Given the description of an element on the screen output the (x, y) to click on. 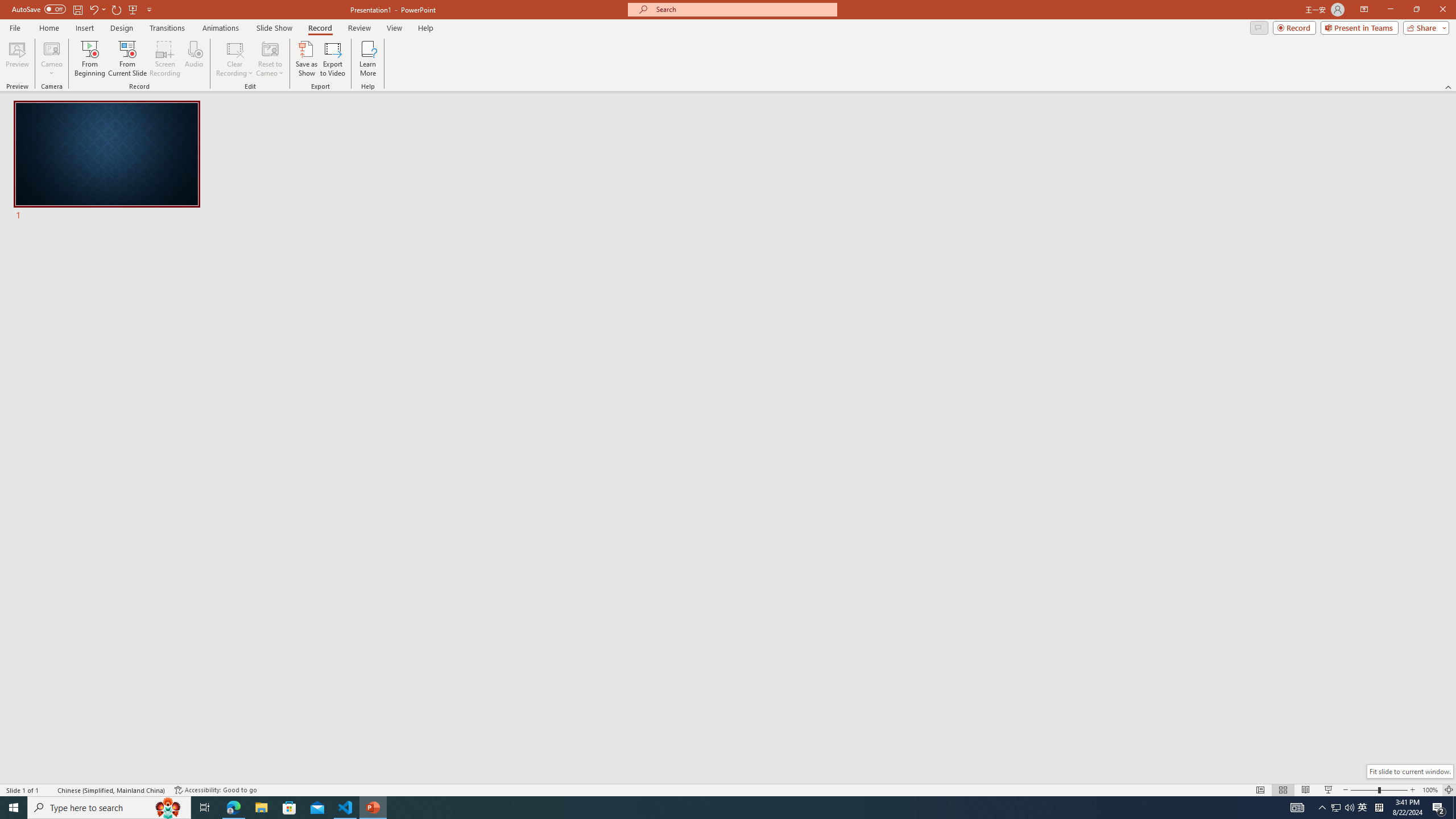
Clear Recording (234, 58)
Export to Video (332, 58)
